Given the description of an element on the screen output the (x, y) to click on. 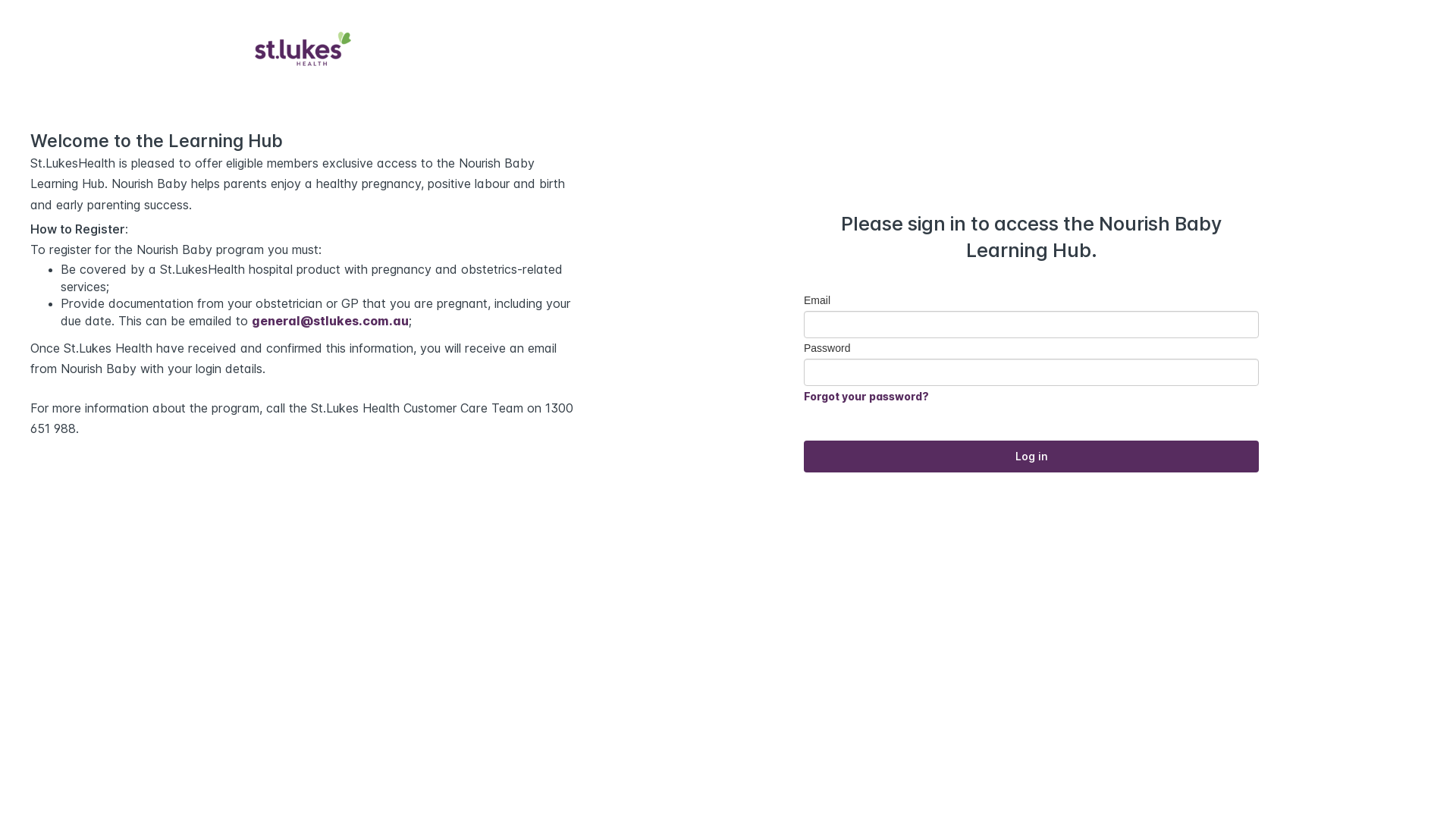
Log in Element type: text (1030, 456)
general@stlukes.com.au Element type: text (329, 320)
Forgot your password? Element type: text (865, 395)
